Given the description of an element on the screen output the (x, y) to click on. 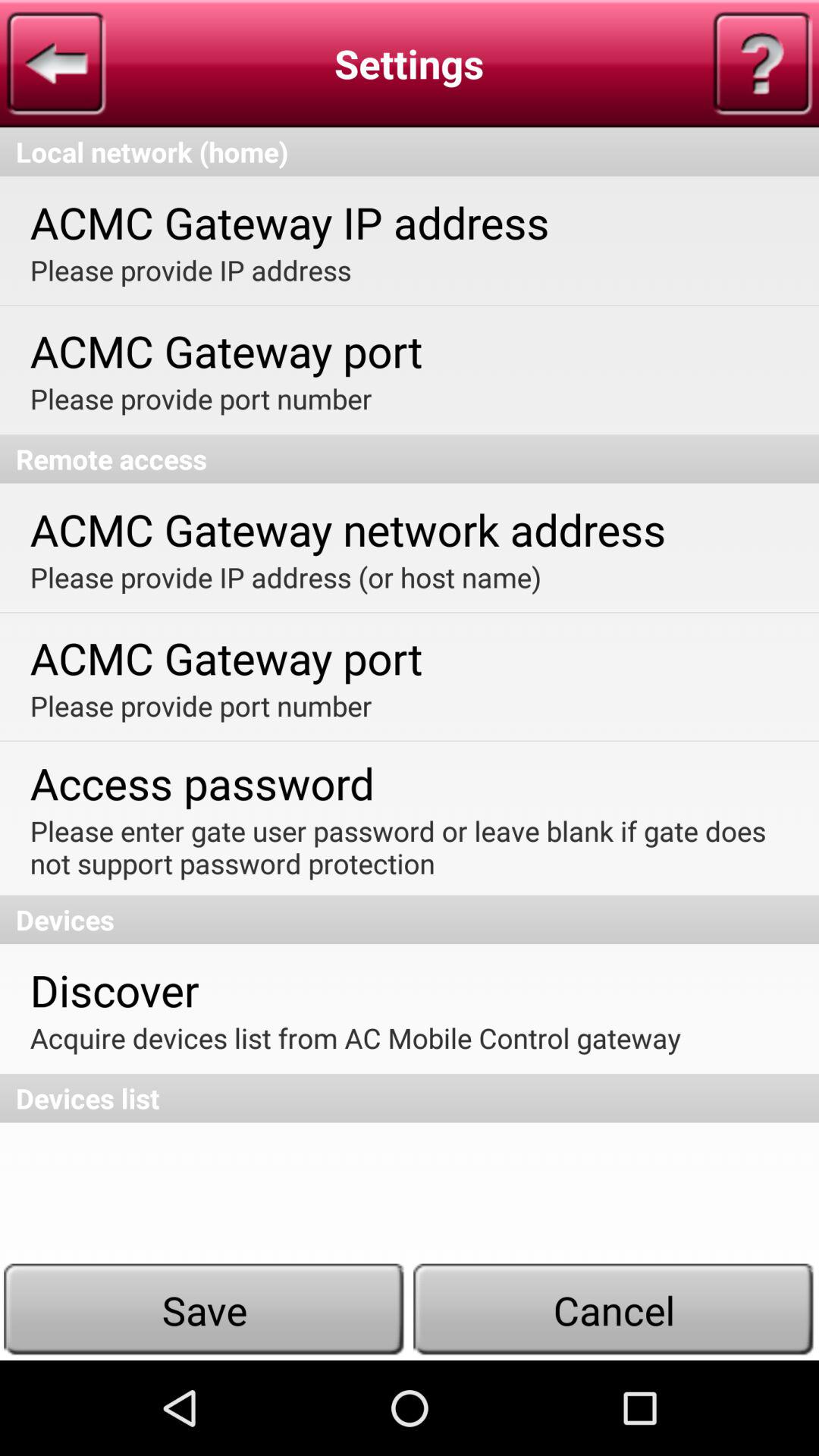
launch the item next to settings item (55, 63)
